Given the description of an element on the screen output the (x, y) to click on. 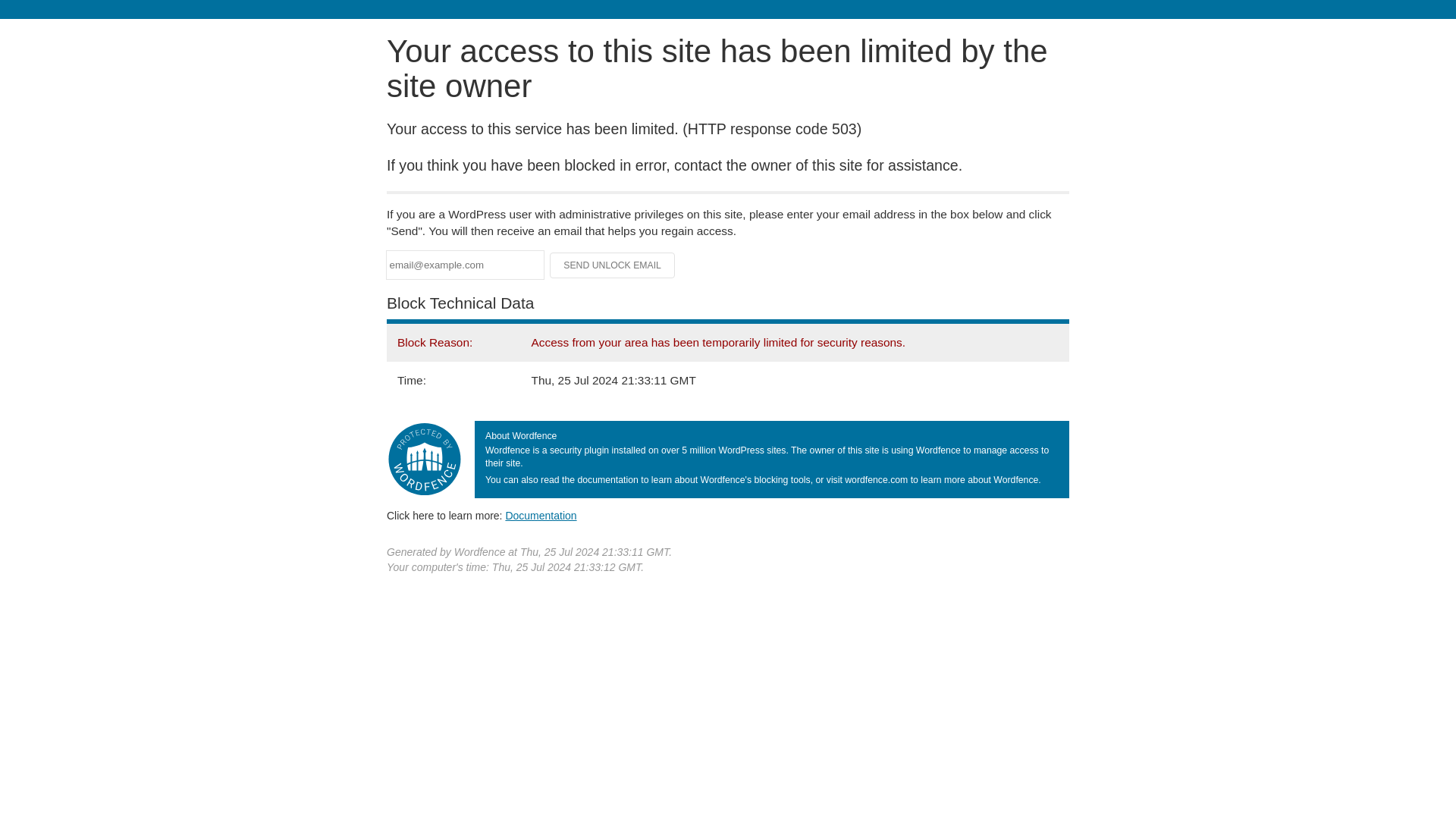
Send Unlock Email (612, 265)
Documentation (540, 515)
Send Unlock Email (612, 265)
